Given the description of an element on the screen output the (x, y) to click on. 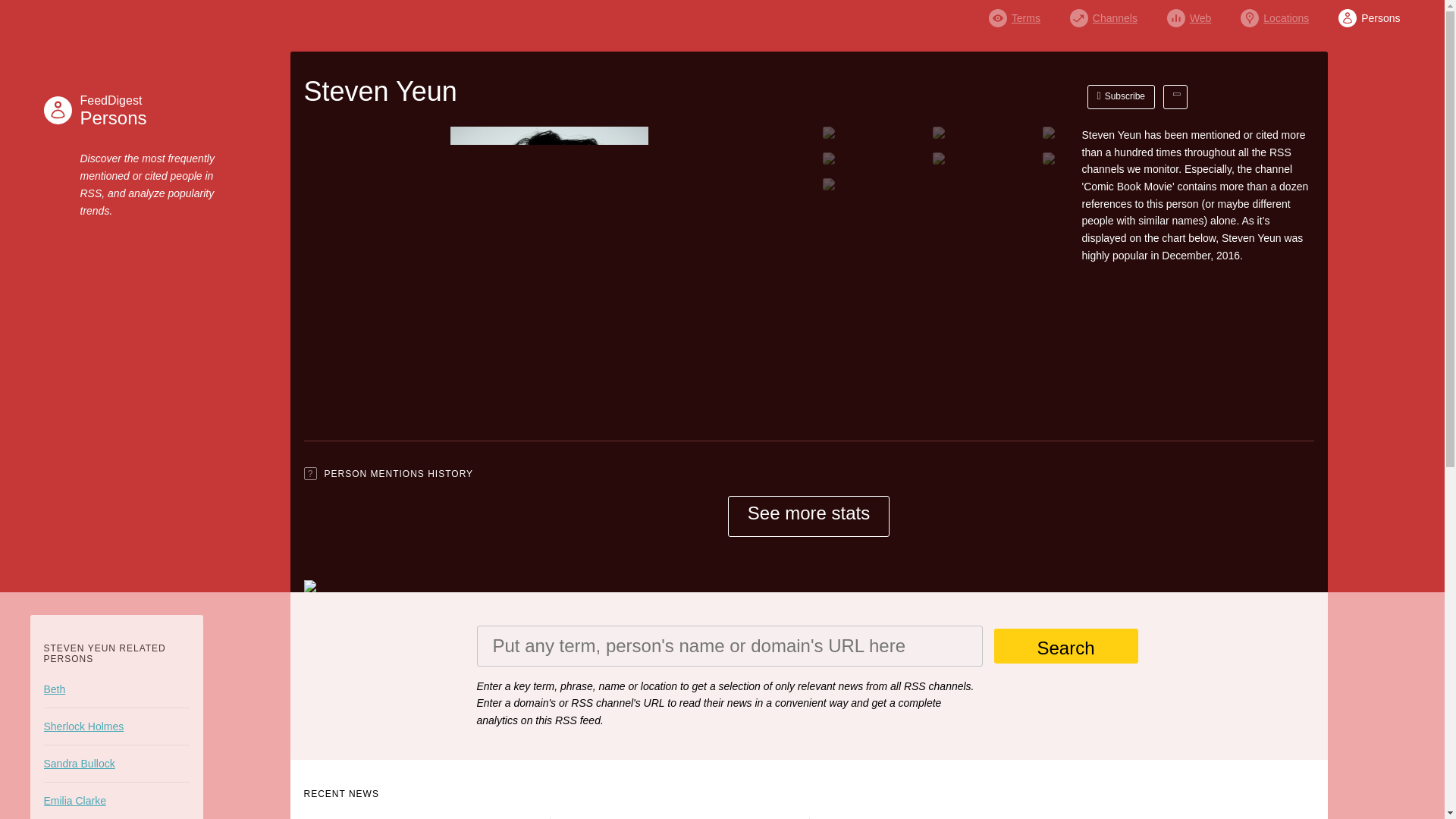
Subscribe (1121, 96)
Persons (1368, 14)
See more stats (808, 516)
Terms (1014, 14)
Channels (1103, 14)
Search (1064, 645)
Locations (1274, 14)
Web (114, 109)
